Given the description of an element on the screen output the (x, y) to click on. 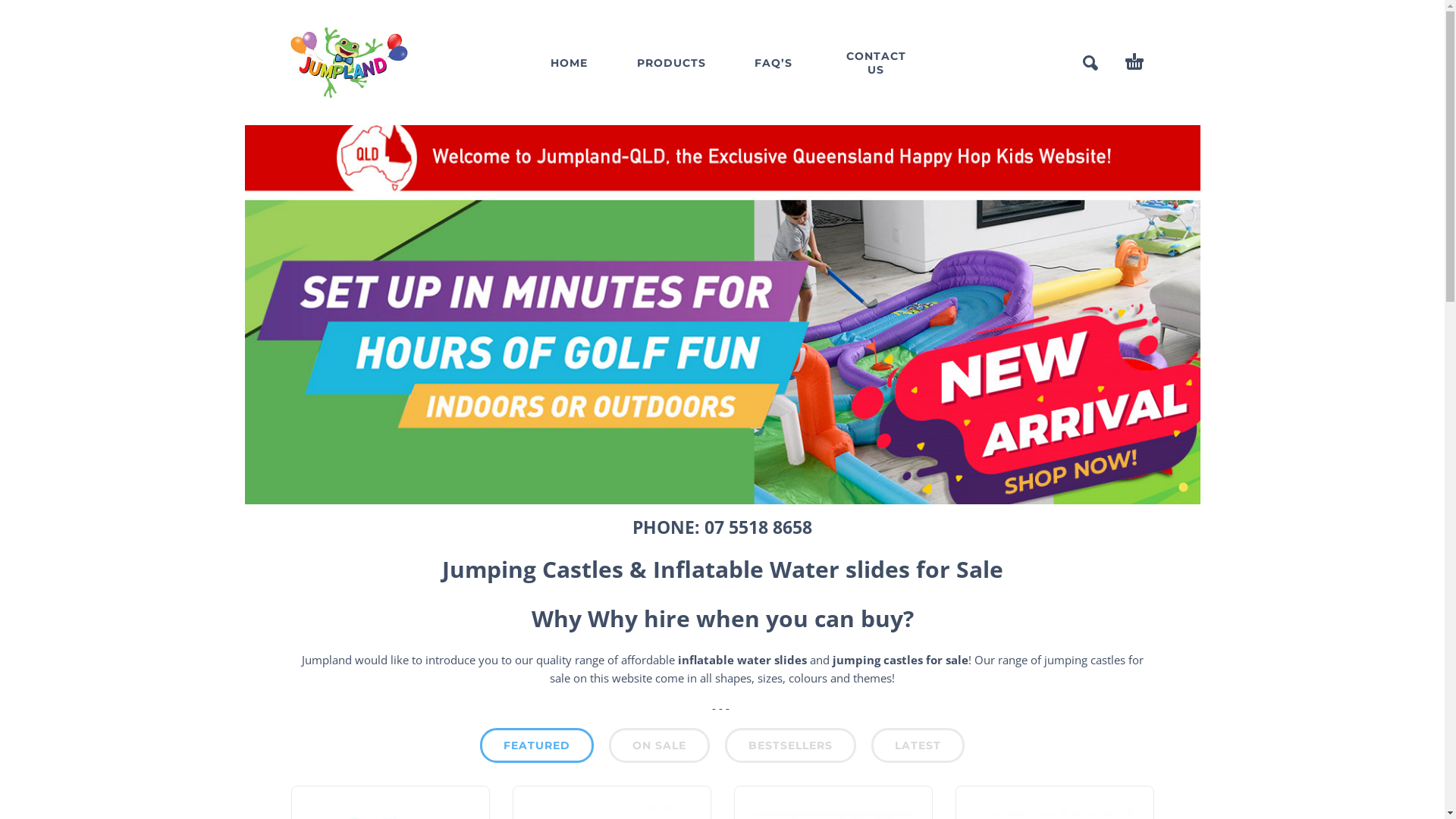
FEATURED Element type: text (536, 745)
BESTSELLERS Element type: text (790, 745)
Jumping Castles Element type: text (531, 568)
PRODUCTS Element type: text (670, 61)
jumping castles for sale! Element type: text (901, 659)
LATEST Element type: text (917, 745)
Inflatable Water slides Element type: text (780, 568)
ON SALE Element type: text (658, 745)
inflatable water slides Element type: text (741, 659)
HOME Element type: text (568, 61)
CONTACT US Element type: text (875, 62)
